Given the description of an element on the screen output the (x, y) to click on. 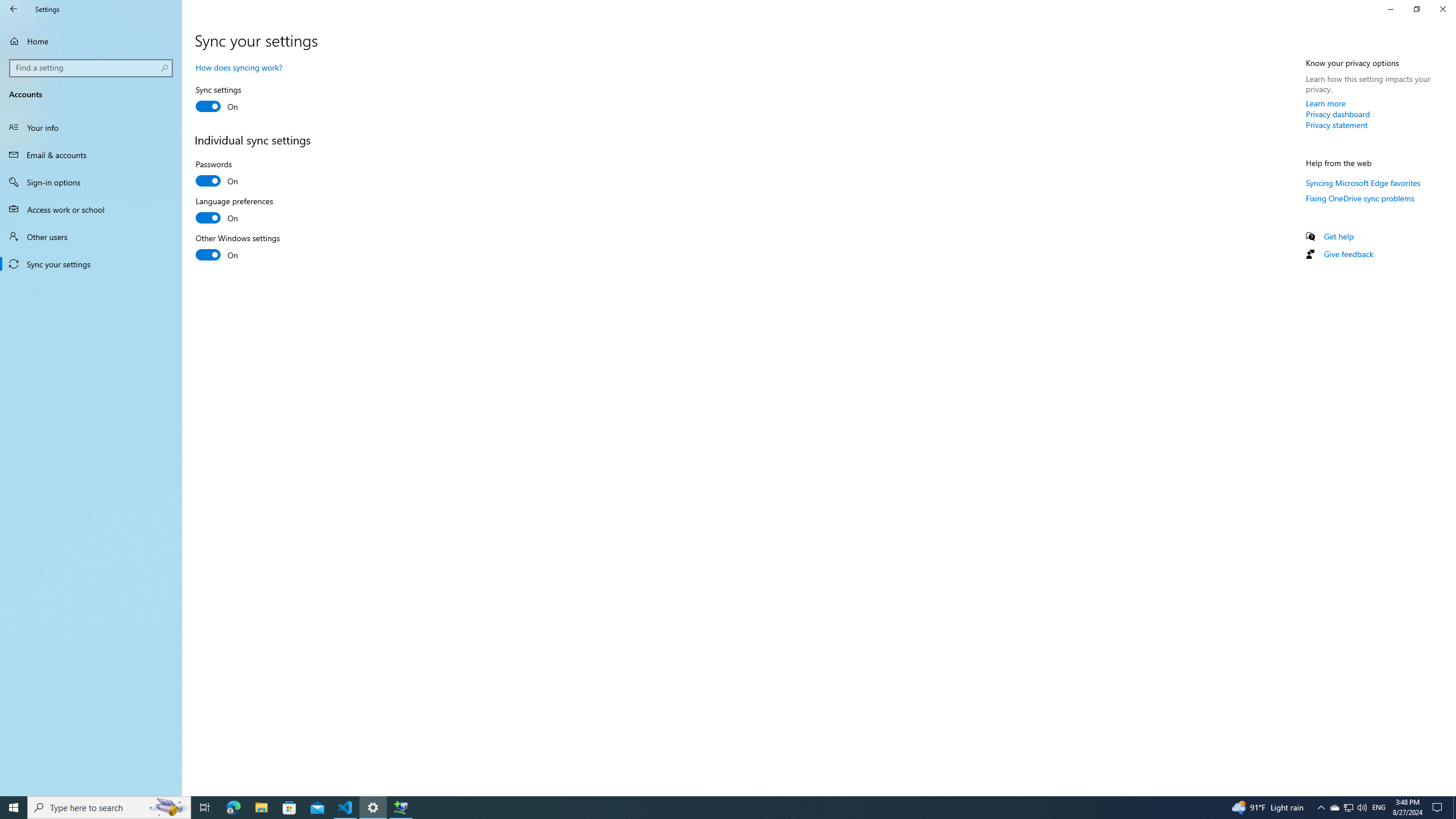
Close Settings (1442, 9)
Running applications (706, 807)
Sync settings (237, 99)
Back (13, 9)
User Promoted Notification Area (1347, 807)
Access work or school (91, 208)
Home (91, 40)
Type here to search (108, 807)
Sync your settings (91, 263)
Learn more (1326, 102)
Q2790: 100% (1361, 807)
Give feedback (1348, 253)
Other users (91, 236)
How does syncing work? (238, 67)
